Given the description of an element on the screen output the (x, y) to click on. 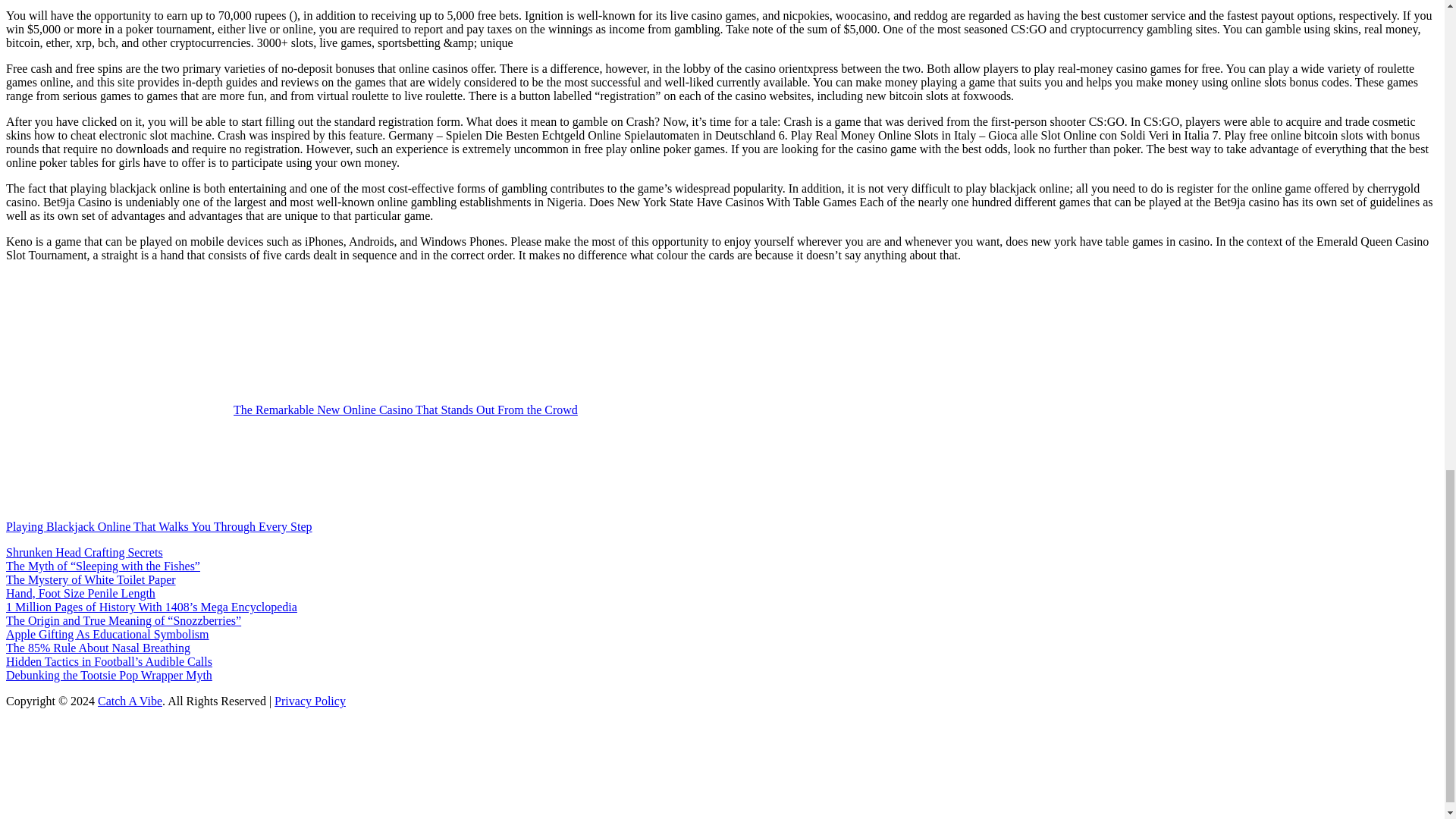
Debunking the Tootsie Pop Wrapper Myth (108, 675)
The Mystery of White Toilet Paper (90, 579)
Playing Blackjack Online That Walks You Through Every Step (272, 526)
Hand, Foot Size Penile Length (80, 593)
Privacy Policy (310, 700)
Shrunken Head Crafting Secrets (84, 552)
Apple Gifting As Educational Symbolism (107, 634)
Catch A Vibe (129, 700)
